Given the description of an element on the screen output the (x, y) to click on. 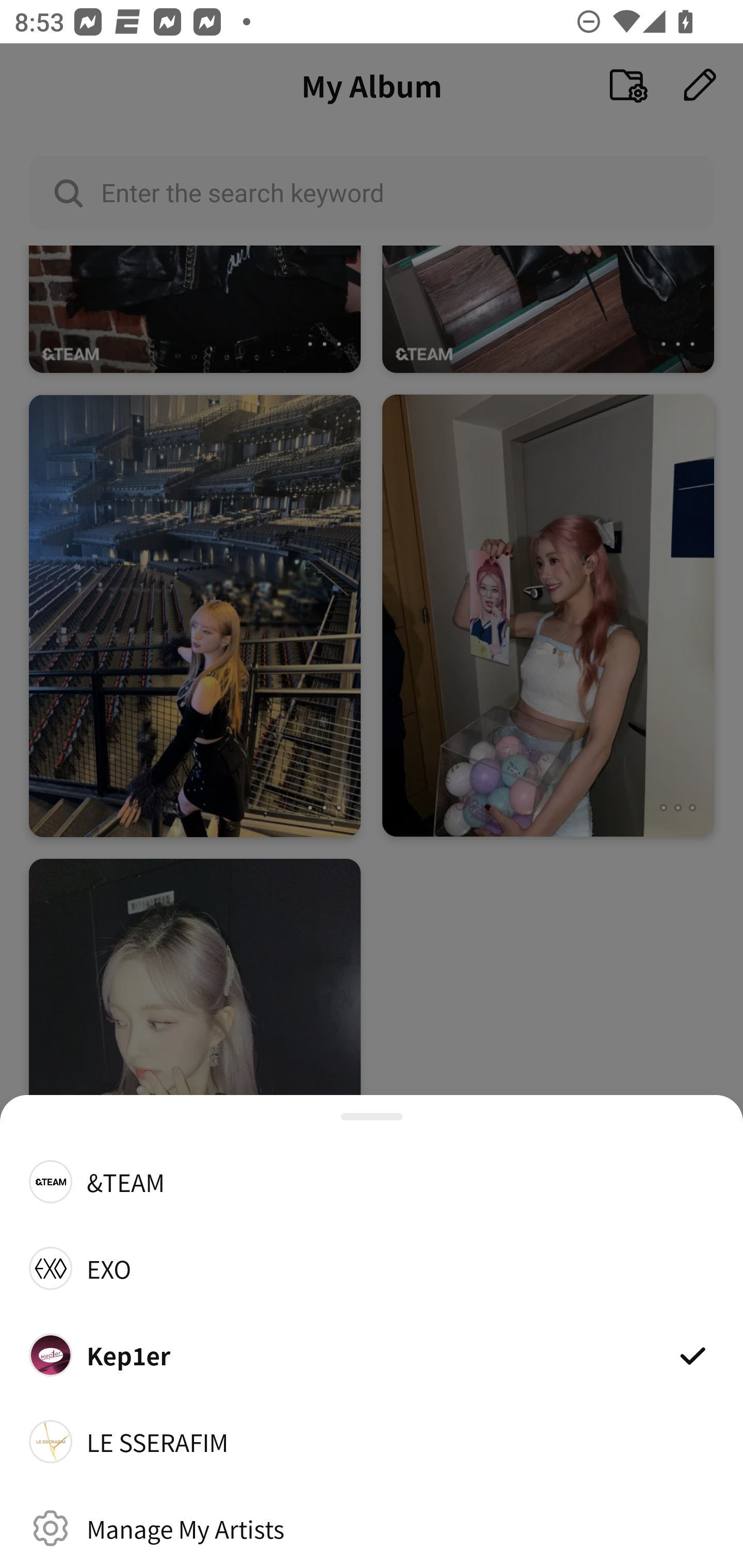
&TEAM (371, 1181)
EXO (371, 1268)
Kep1er (371, 1354)
LE SSERAFIM (371, 1441)
Manage My Artists (371, 1527)
